Given the description of an element on the screen output the (x, y) to click on. 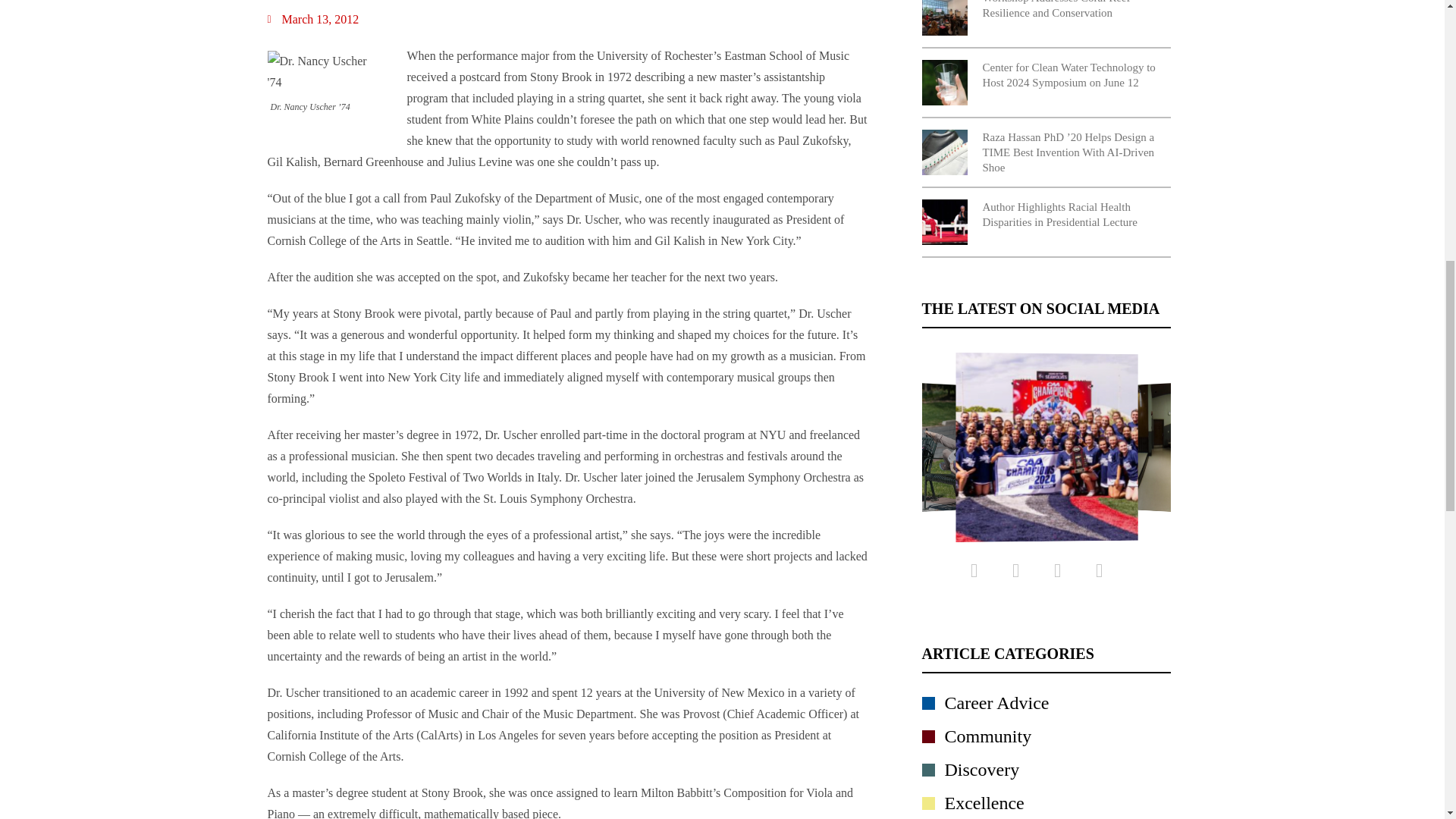
March 13, 2012 (312, 19)
Workshop Addresses Coral Reef Resilience and Conservation (1045, 18)
